Given the description of an element on the screen output the (x, y) to click on. 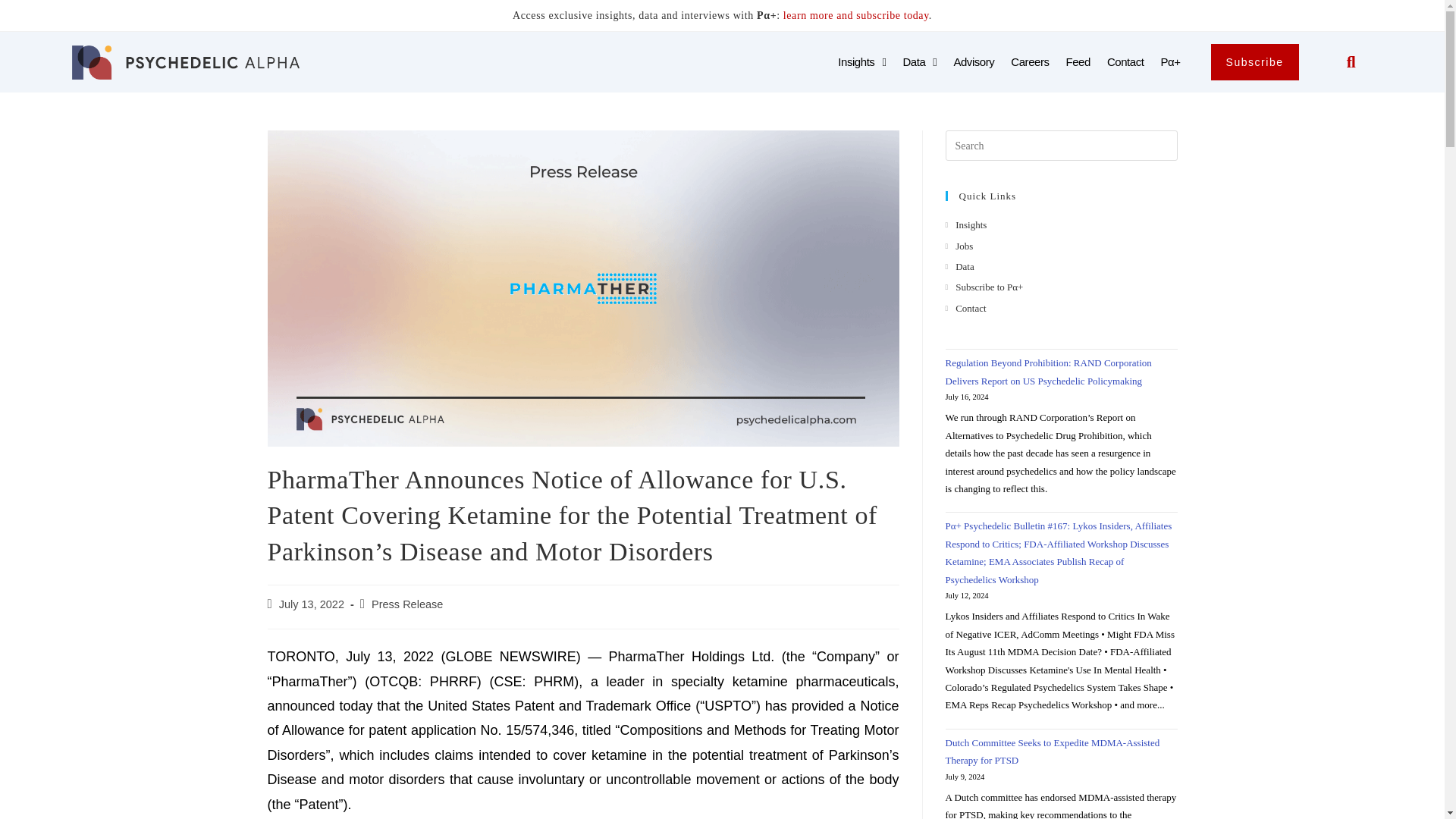
Data (919, 61)
learn more and subscribe today (855, 15)
Insights (861, 61)
Press Release (406, 604)
Careers (1029, 61)
Advisory (973, 61)
Feed (1077, 61)
Subscribe (1254, 62)
Contact (1125, 61)
